Given the description of an element on the screen output the (x, y) to click on. 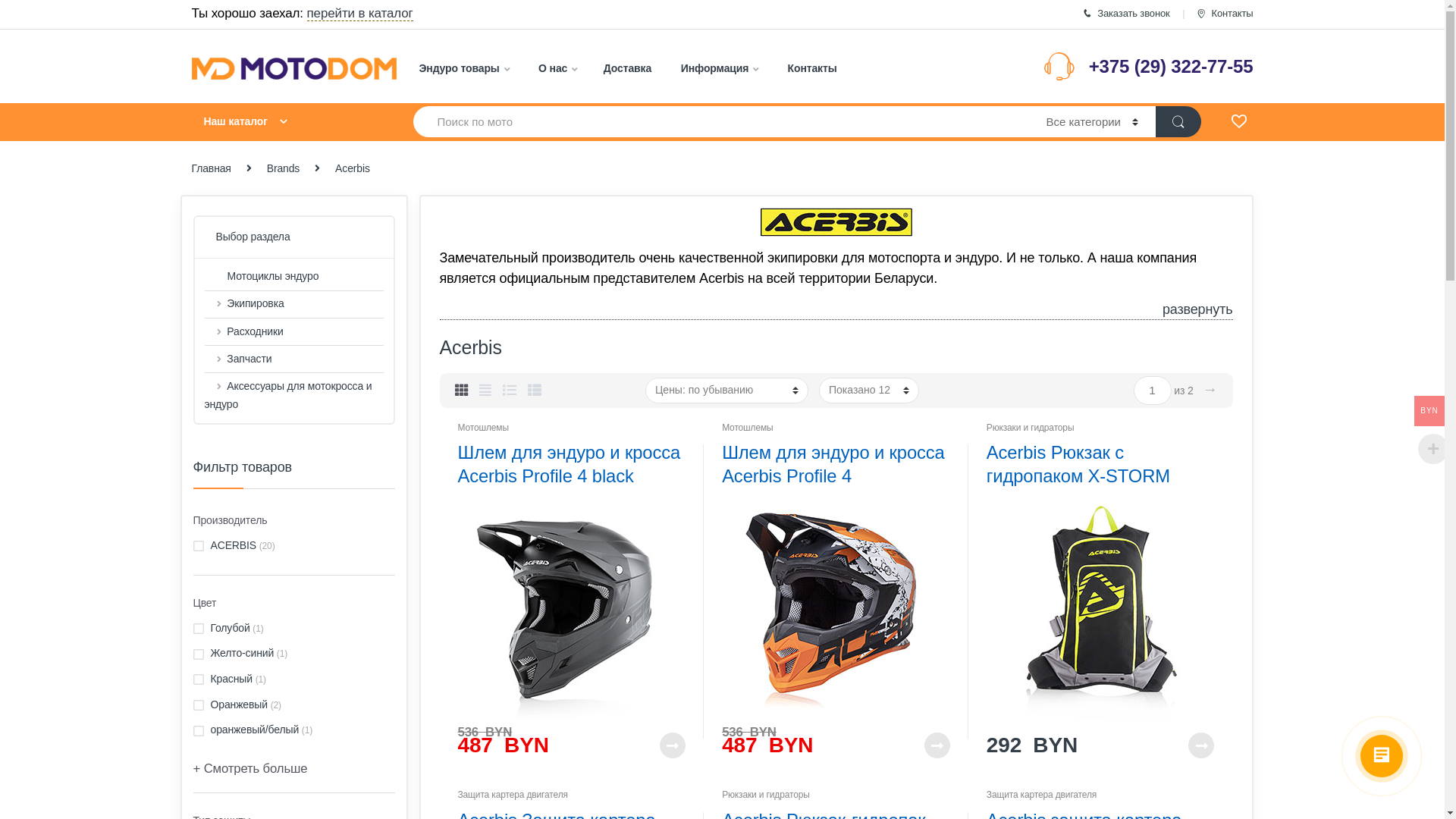
Grid View Element type: hover (461, 390)
+375 (29) 322-77-55 Element type: text (1170, 66)
Grid Extended View Element type: hover (485, 390)
ACERBIS Element type: text (223, 545)
List View Small Element type: hover (534, 390)
List View Element type: hover (509, 390)
